Given the description of an element on the screen output the (x, y) to click on. 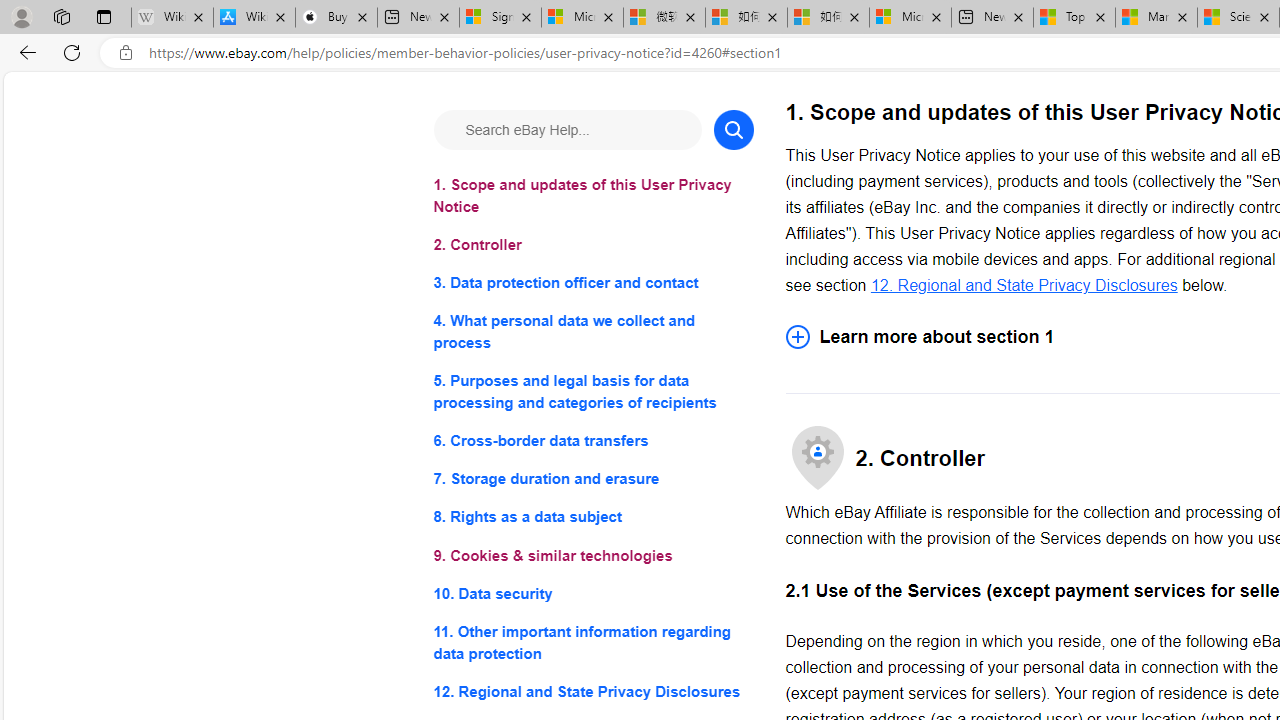
Microsoft Services Agreement (582, 17)
8. Rights as a data subject (592, 517)
11. Other important information regarding data protection (592, 642)
12. Regional and State Privacy Disclosures (1023, 284)
6. Cross-border data transfers (592, 440)
4. What personal data we collect and process (592, 332)
Top Stories - MSN (1074, 17)
Marine life - MSN (1156, 17)
Sign in to your Microsoft account (500, 17)
1. Scope and updates of this User Privacy Notice (592, 196)
Buy iPad - Apple (336, 17)
11. Other important information regarding data protection (592, 642)
